Given the description of an element on the screen output the (x, y) to click on. 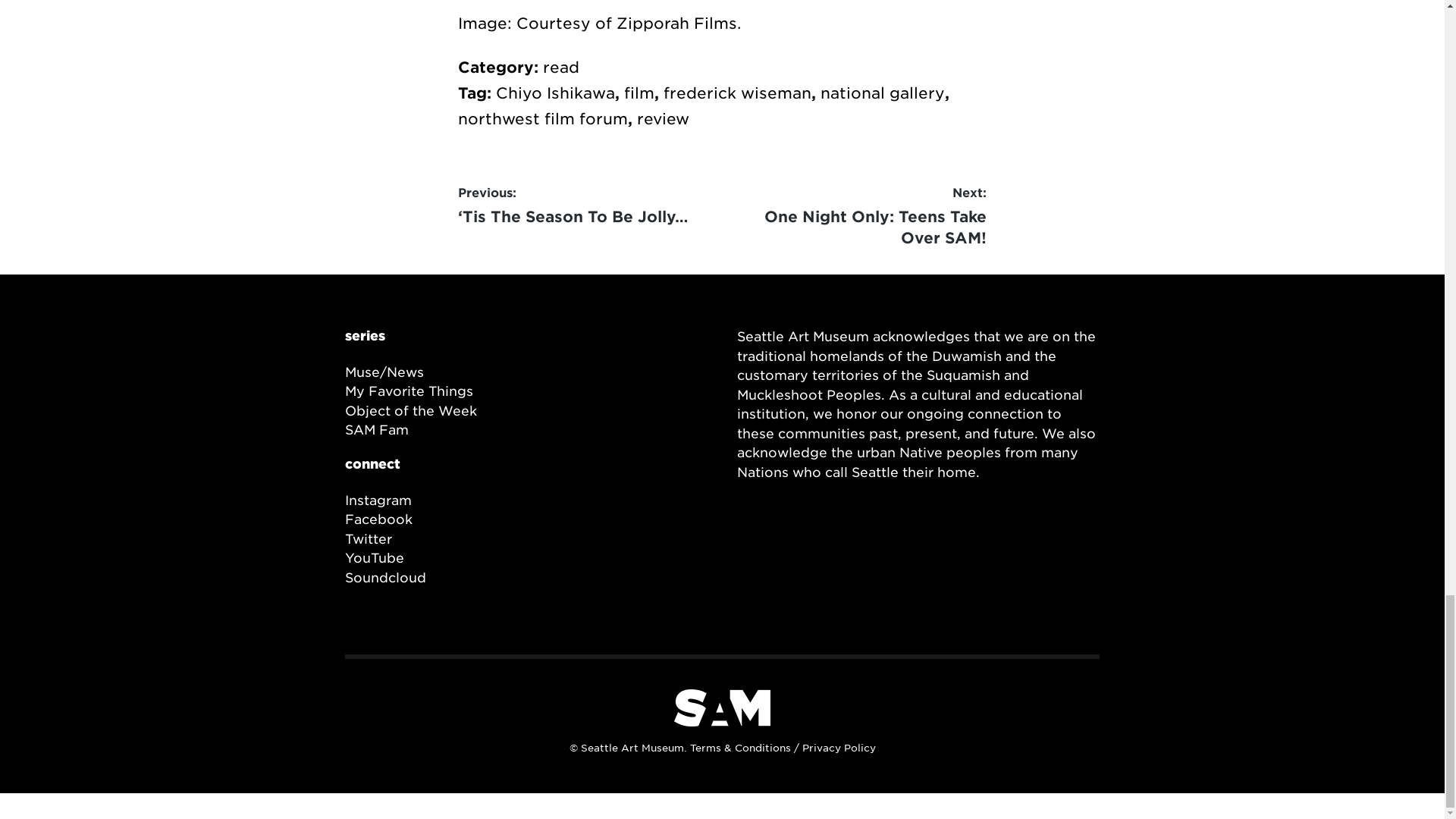
Instagram (378, 500)
Chiyo Ishikawa (555, 93)
Twitter (368, 539)
national gallery (882, 93)
frederick wiseman (736, 93)
film (638, 93)
review (662, 118)
YouTube (374, 557)
Facebook (378, 519)
My Favorite Things (409, 391)
SAM Fam (855, 216)
northwest film forum (377, 429)
read (542, 118)
Soundcloud (561, 67)
